Given the description of an element on the screen output the (x, y) to click on. 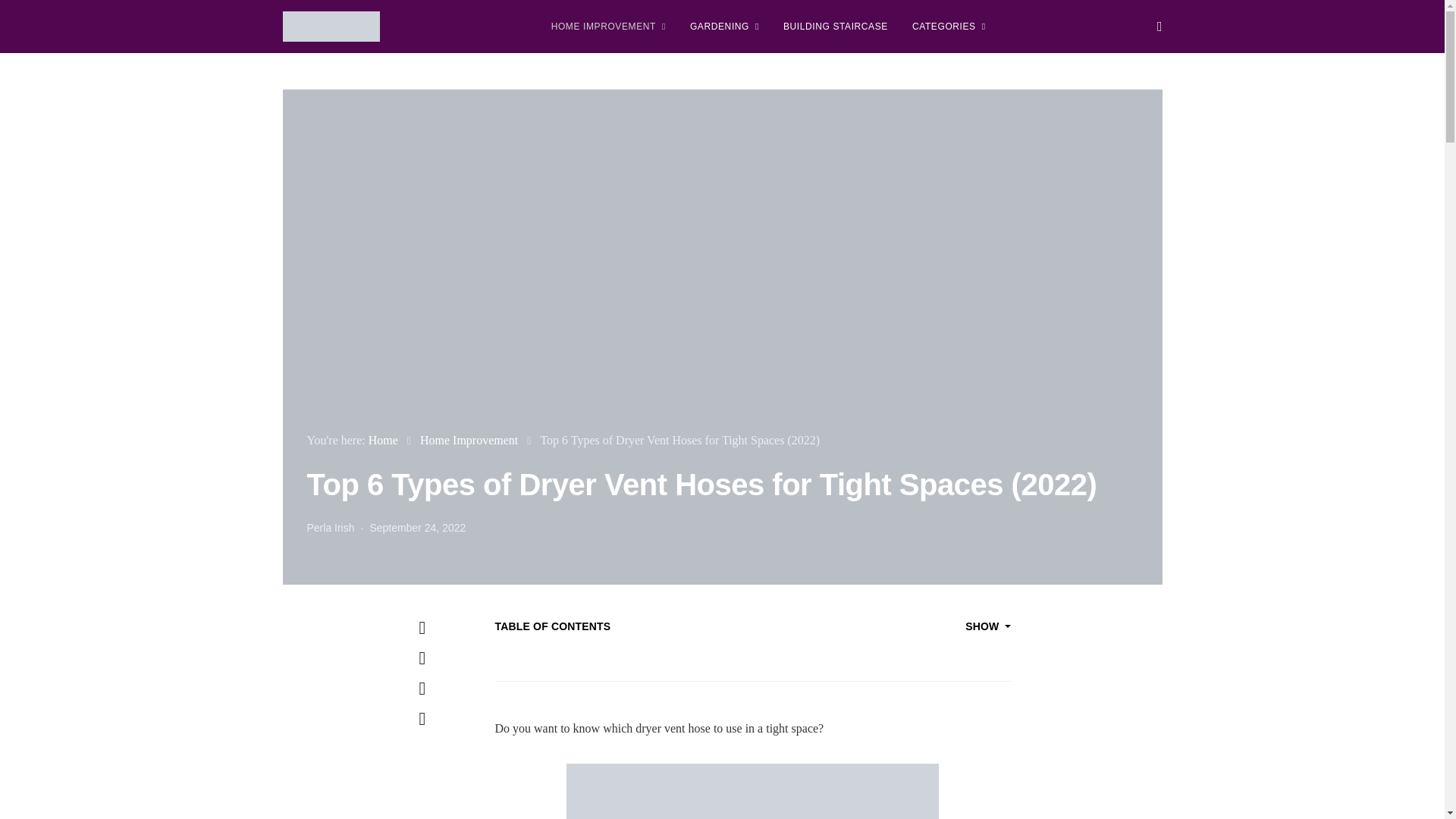
HOME IMPROVEMENT (608, 26)
View all posts by Perla Irish (329, 527)
